Given the description of an element on the screen output the (x, y) to click on. 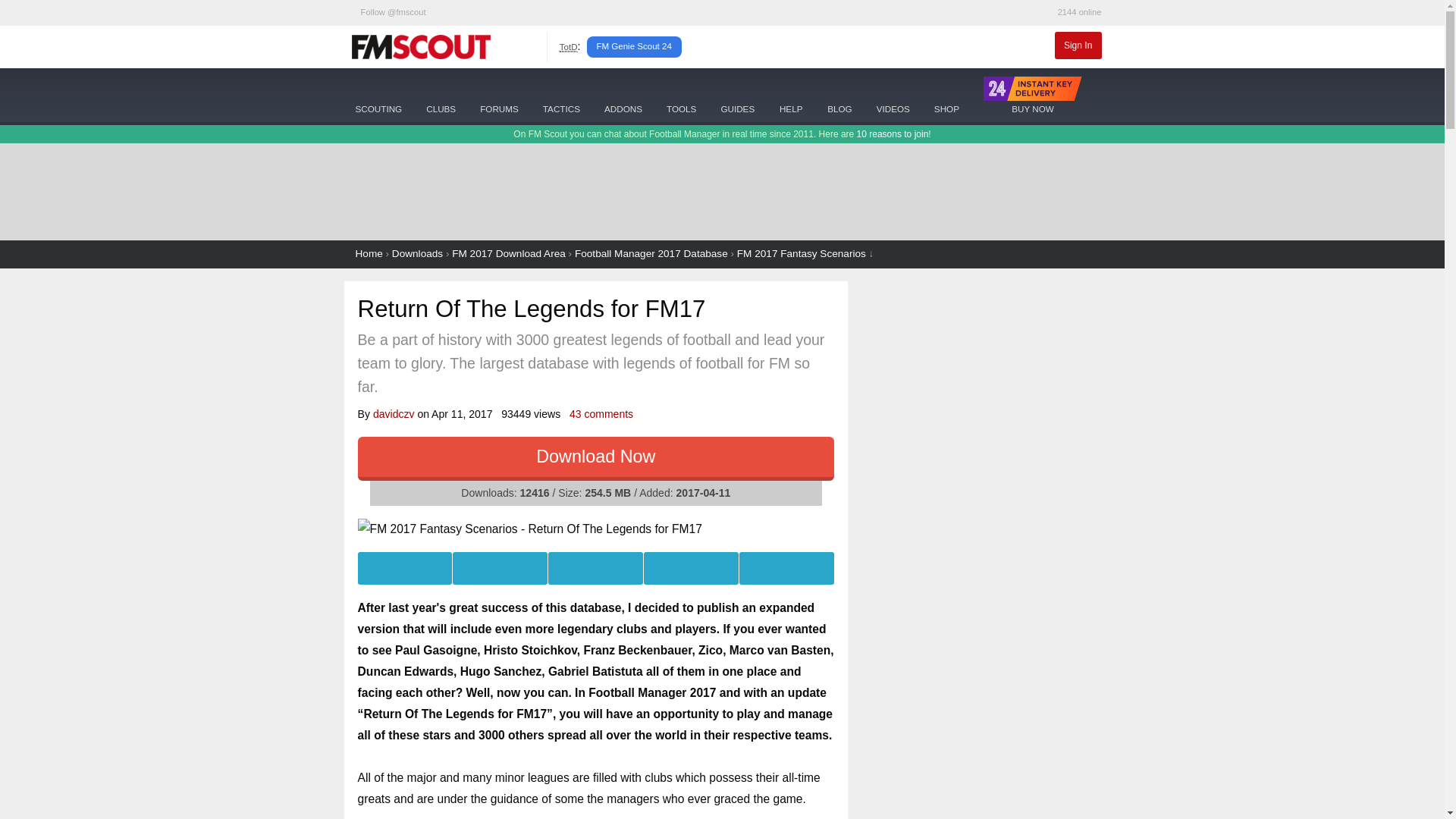
CLUBS (440, 94)
TACTICS (561, 94)
FM 2017 Download Area (508, 253)
SCOUTING (377, 94)
FORUMS (499, 94)
FM Genie Scout 24 (633, 46)
Downloads (416, 253)
Sign In (1078, 44)
Topic of the Day (568, 47)
FM Genie Scout 24 (633, 46)
FM24 Downloads (622, 94)
